Given the description of an element on the screen output the (x, y) to click on. 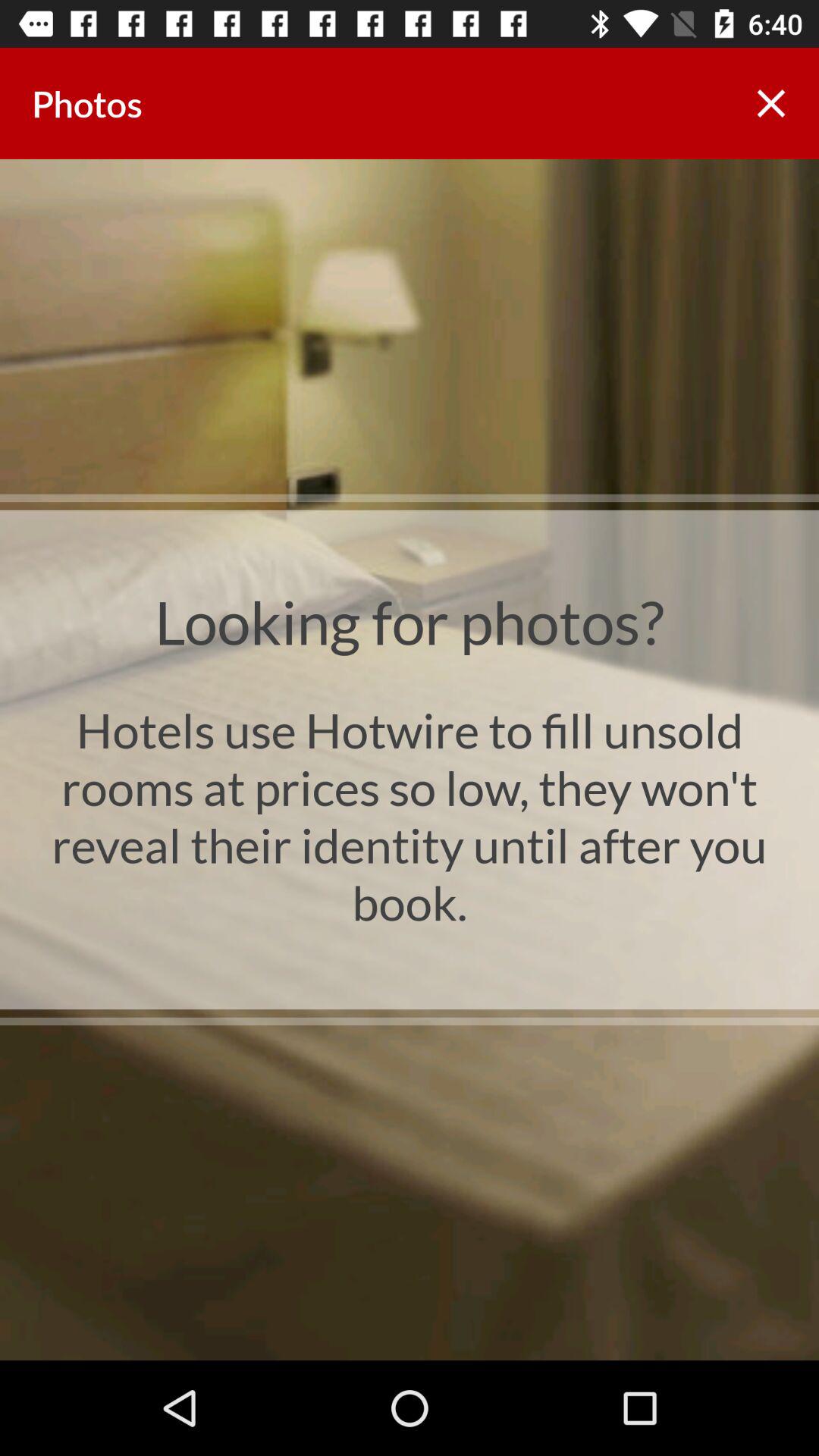
press the app next to photos app (771, 103)
